Given the description of an element on the screen output the (x, y) to click on. 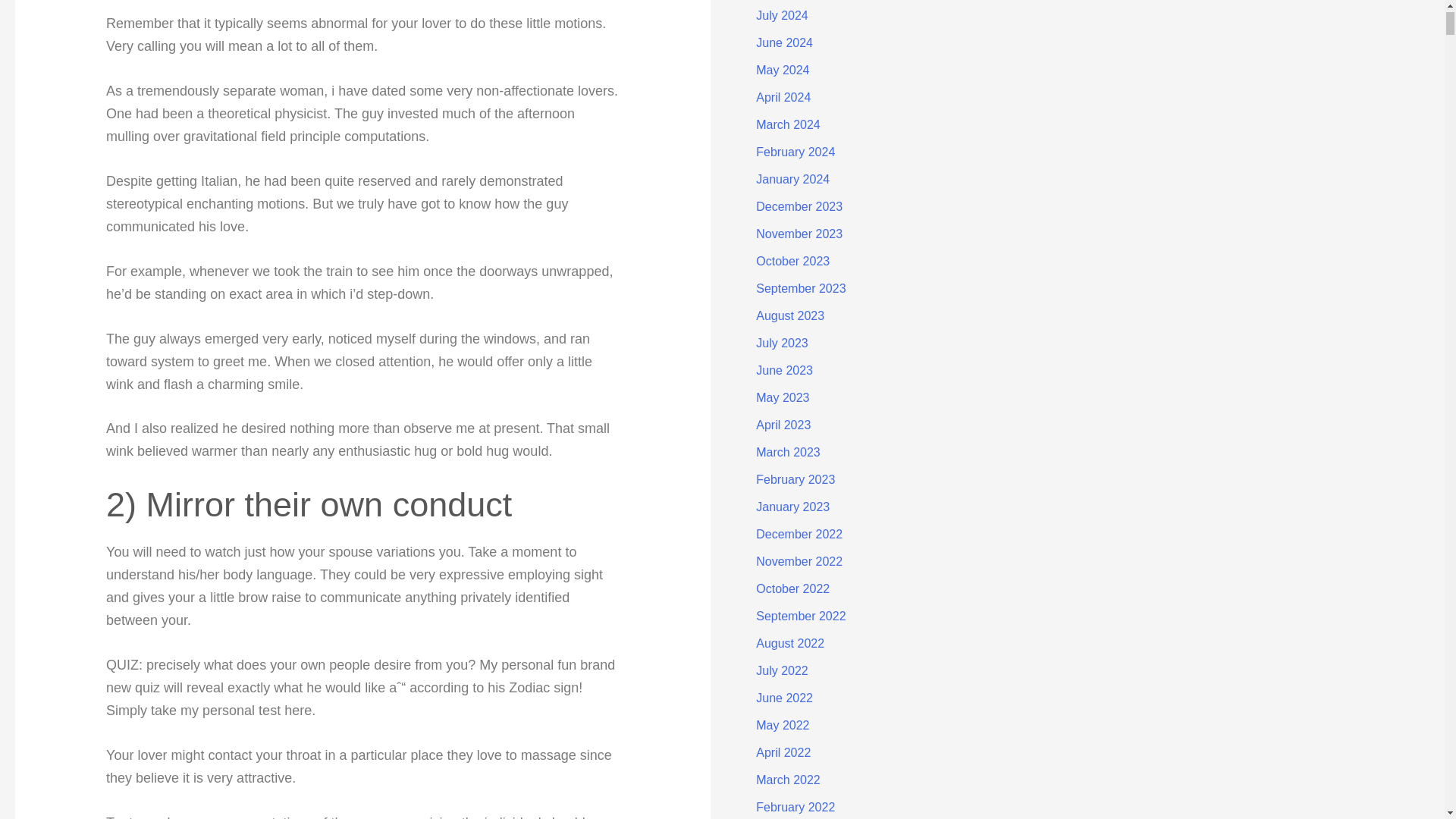
December 2023 (799, 205)
January 2024 (792, 178)
March 2024 (788, 124)
May 2024 (782, 69)
February 2024 (794, 151)
June 2024 (783, 42)
April 2024 (782, 97)
November 2023 (799, 233)
October 2023 (792, 260)
July 2024 (781, 15)
